Given the description of an element on the screen output the (x, y) to click on. 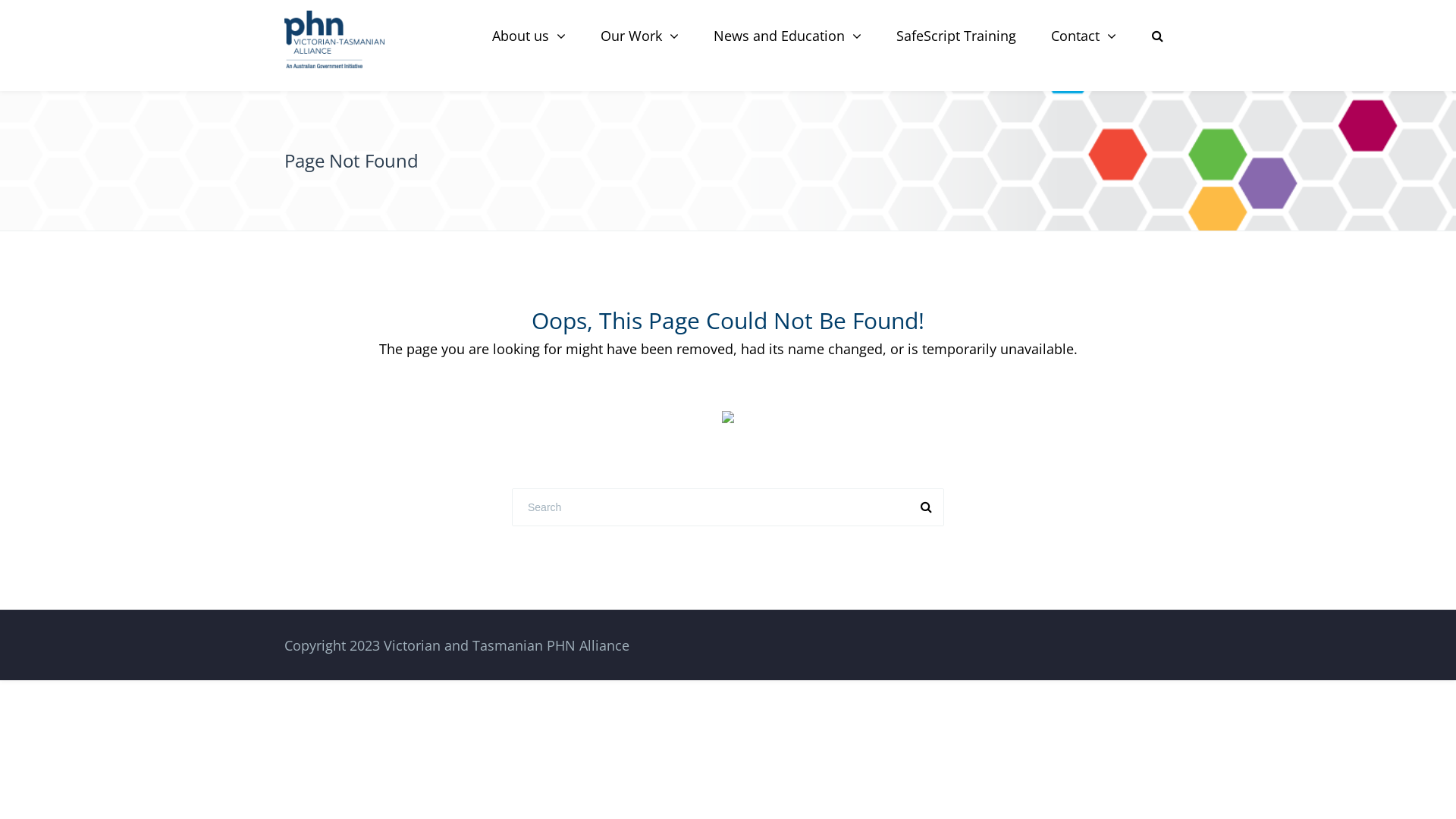
News and Education Element type: text (787, 36)
About us Element type: text (528, 36)
VTPHNA Element type: hover (334, 39)
SafeScript Training Element type: text (955, 36)
Contact Element type: text (1083, 36)
Our Work Element type: text (639, 36)
